Given the description of an element on the screen output the (x, y) to click on. 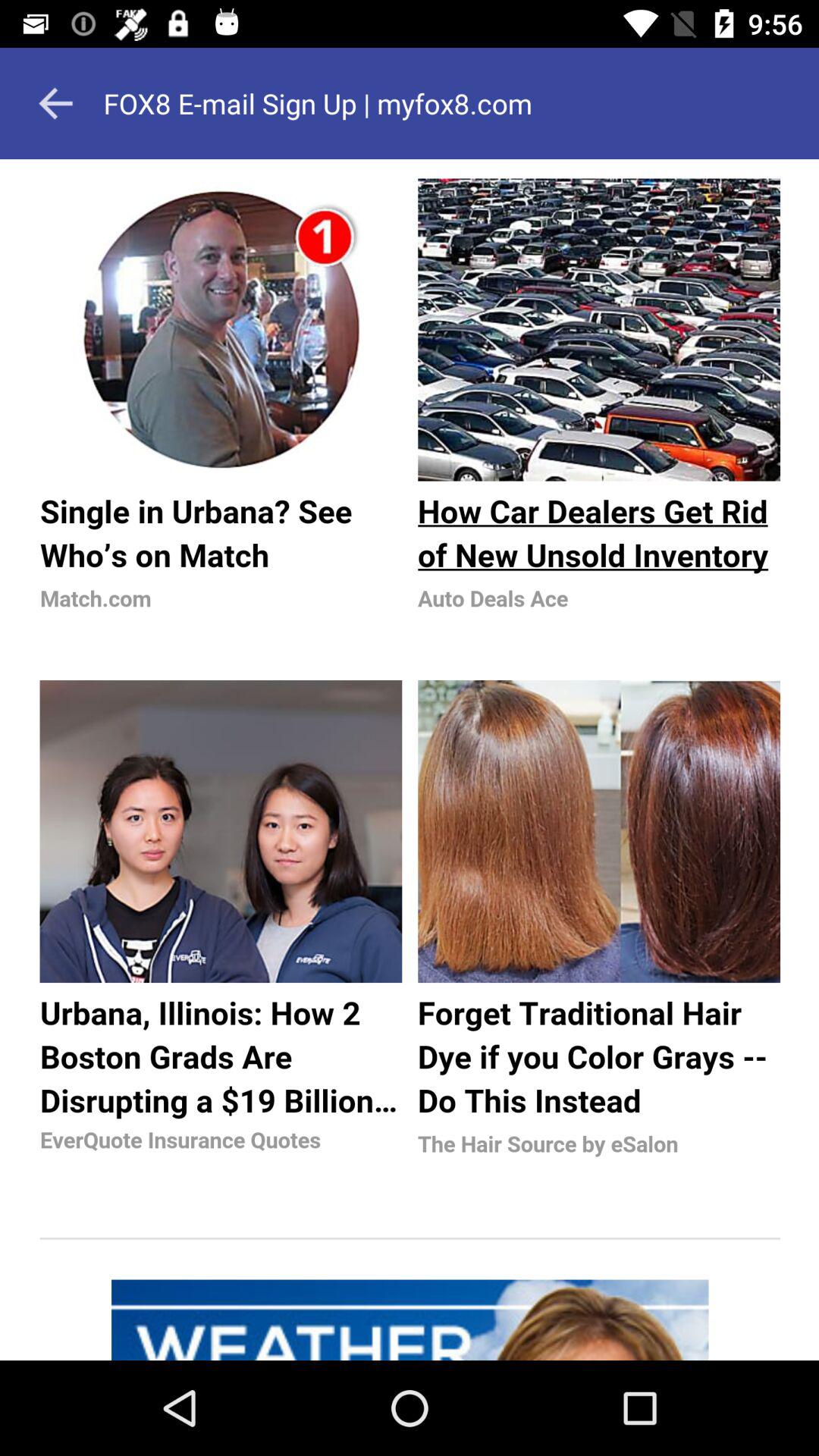
read an article (409, 759)
